Given the description of an element on the screen output the (x, y) to click on. 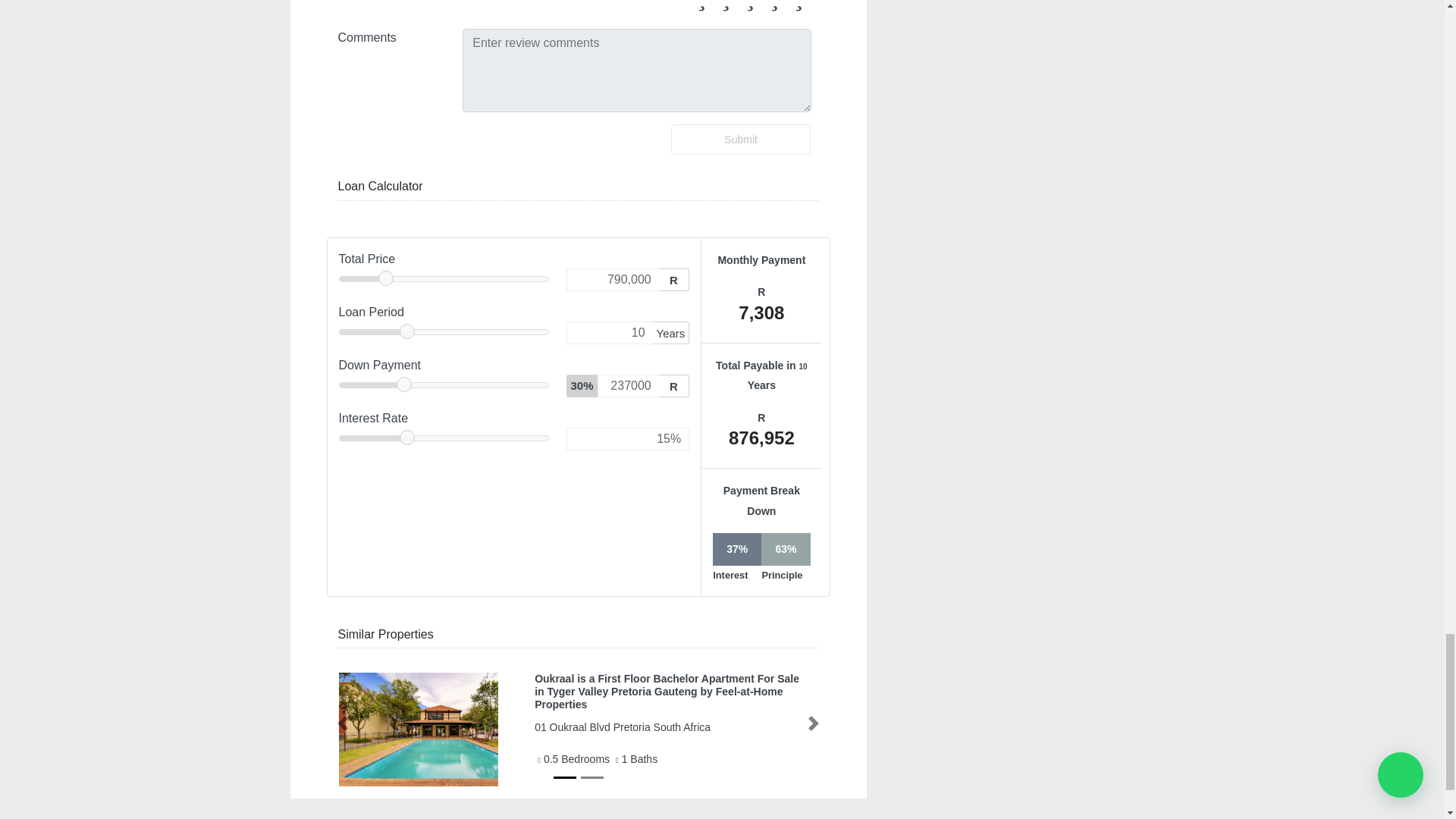
10 (609, 332)
237000 (627, 385)
790,000 (612, 279)
